Given the description of an element on the screen output the (x, y) to click on. 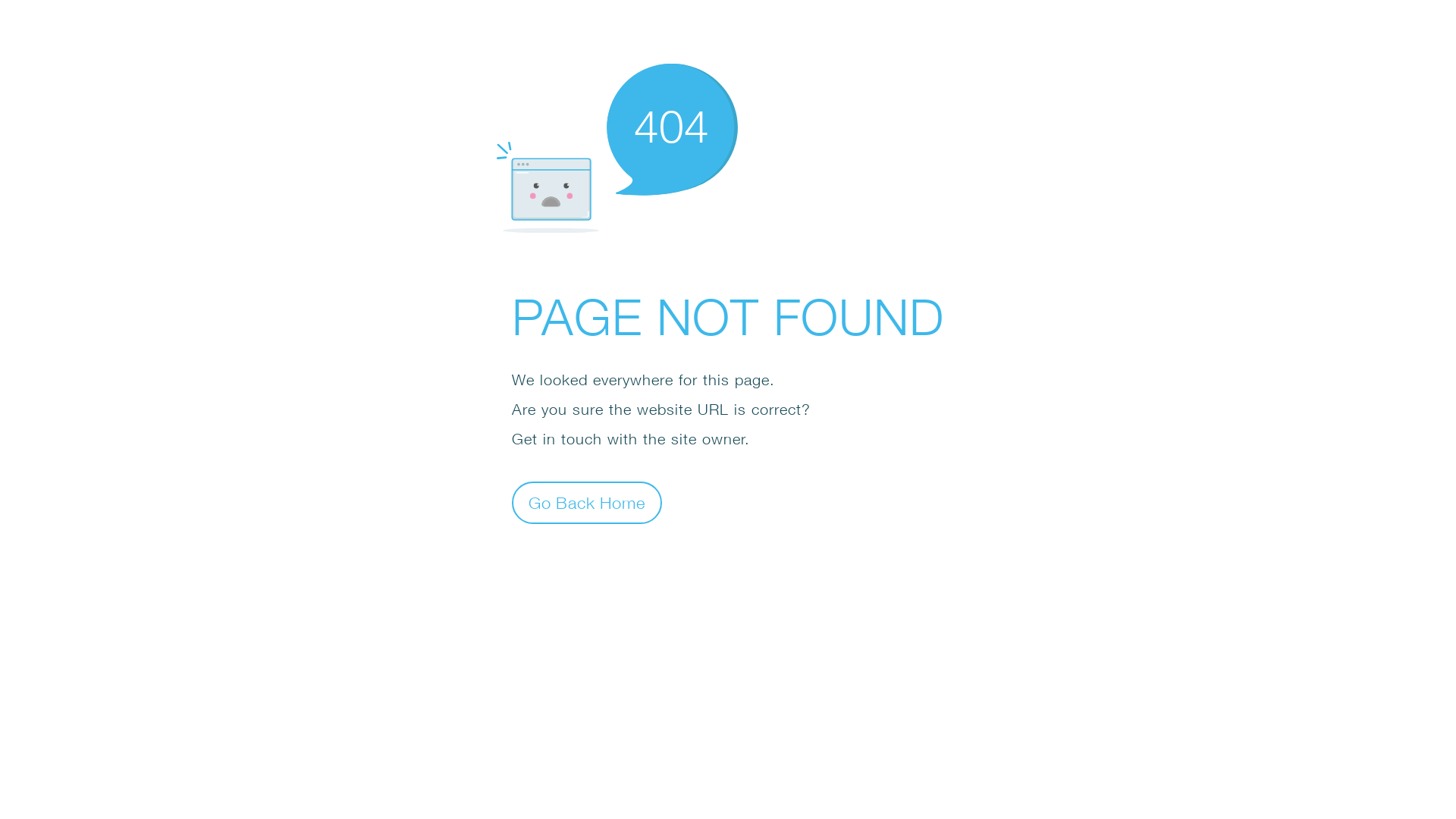
Go Back Home Element type: text (586, 502)
